Given the description of an element on the screen output the (x, y) to click on. 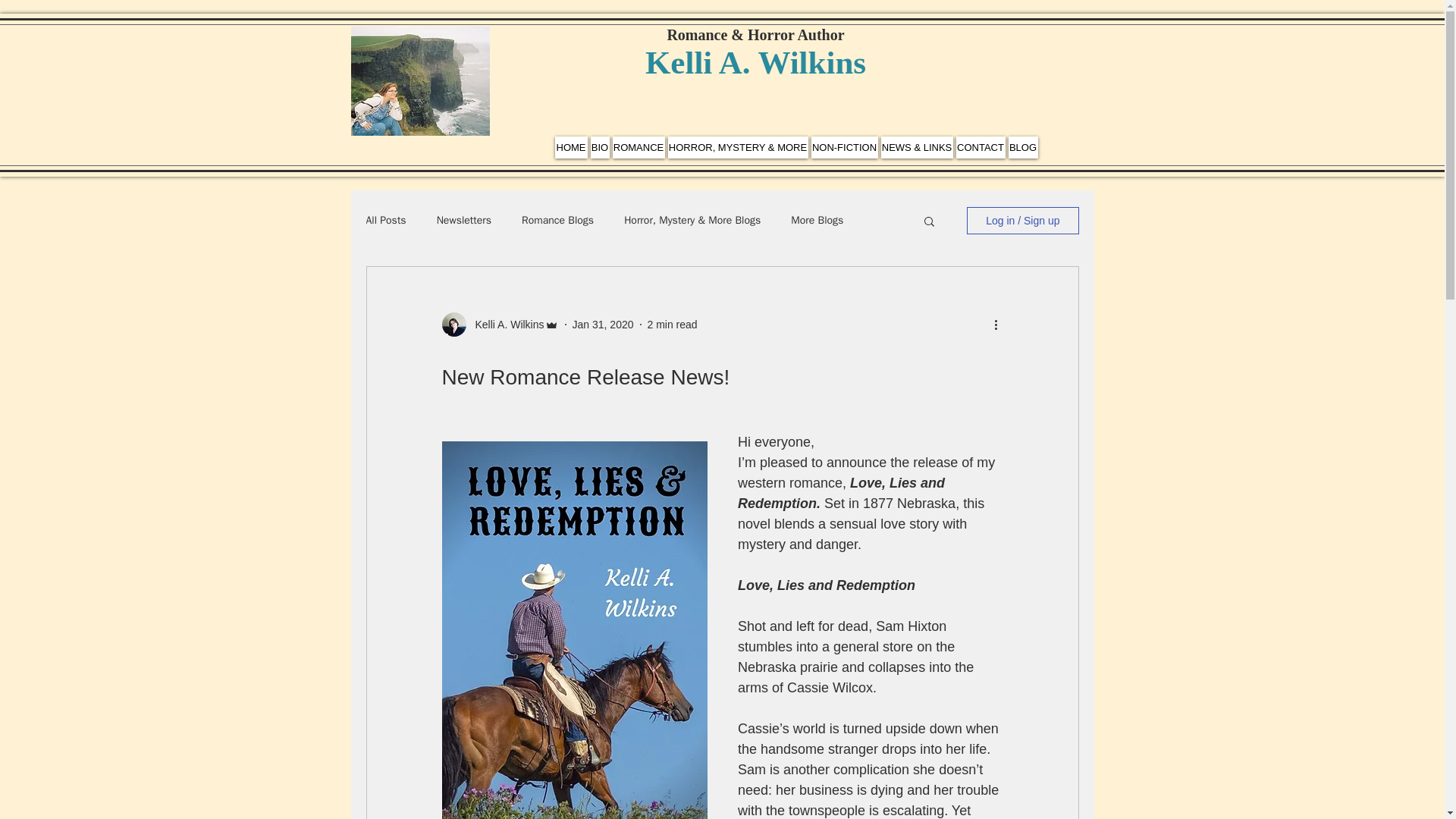
Kelli A. Wilkins (755, 62)
HOME (571, 147)
2 min read (672, 324)
Kelli A. Wilkins (504, 324)
ROMANCE (638, 147)
Jan 31, 2020 (602, 324)
NON-FICTION (843, 147)
